Given the description of an element on the screen output the (x, y) to click on. 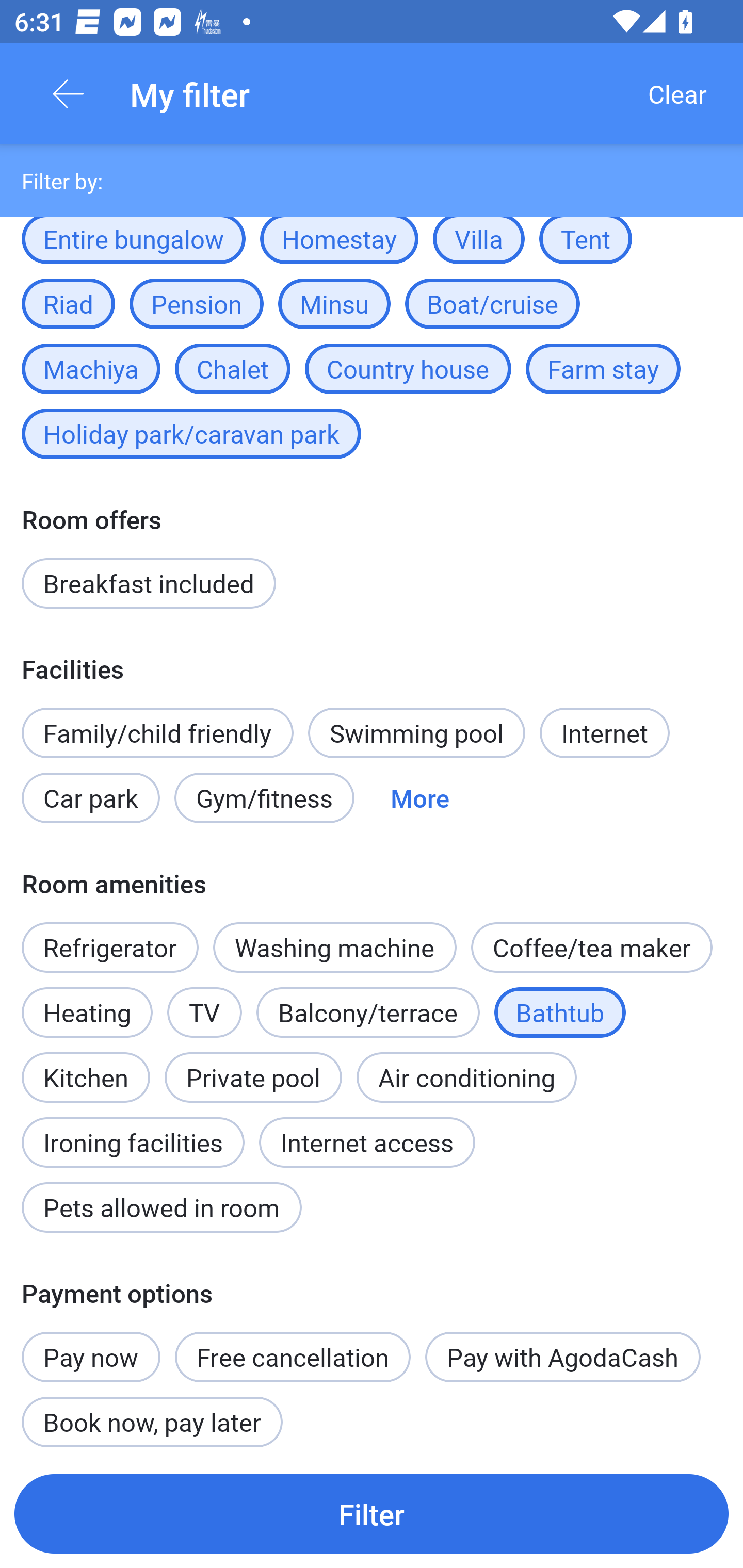
Clear (676, 93)
Breakfast included (148, 583)
Family/child friendly (157, 732)
Swimming pool (416, 732)
Internet (604, 732)
Car park (90, 798)
Gym/fitness (264, 798)
More (420, 798)
Refrigerator (109, 947)
Washing machine (334, 947)
Coffee/tea maker (591, 947)
Heating (87, 1012)
TV (204, 1012)
Balcony/terrace (367, 1012)
Kitchen (85, 1066)
Private pool (252, 1077)
Air conditioning (466, 1077)
Ironing facilities (132, 1131)
Internet access (367, 1142)
Pets allowed in room (161, 1207)
Pay now (90, 1345)
Free cancellation (292, 1356)
Pay with AgodaCash (562, 1356)
Book now, pay later (152, 1418)
Filter (371, 1513)
